Given the description of an element on the screen output the (x, y) to click on. 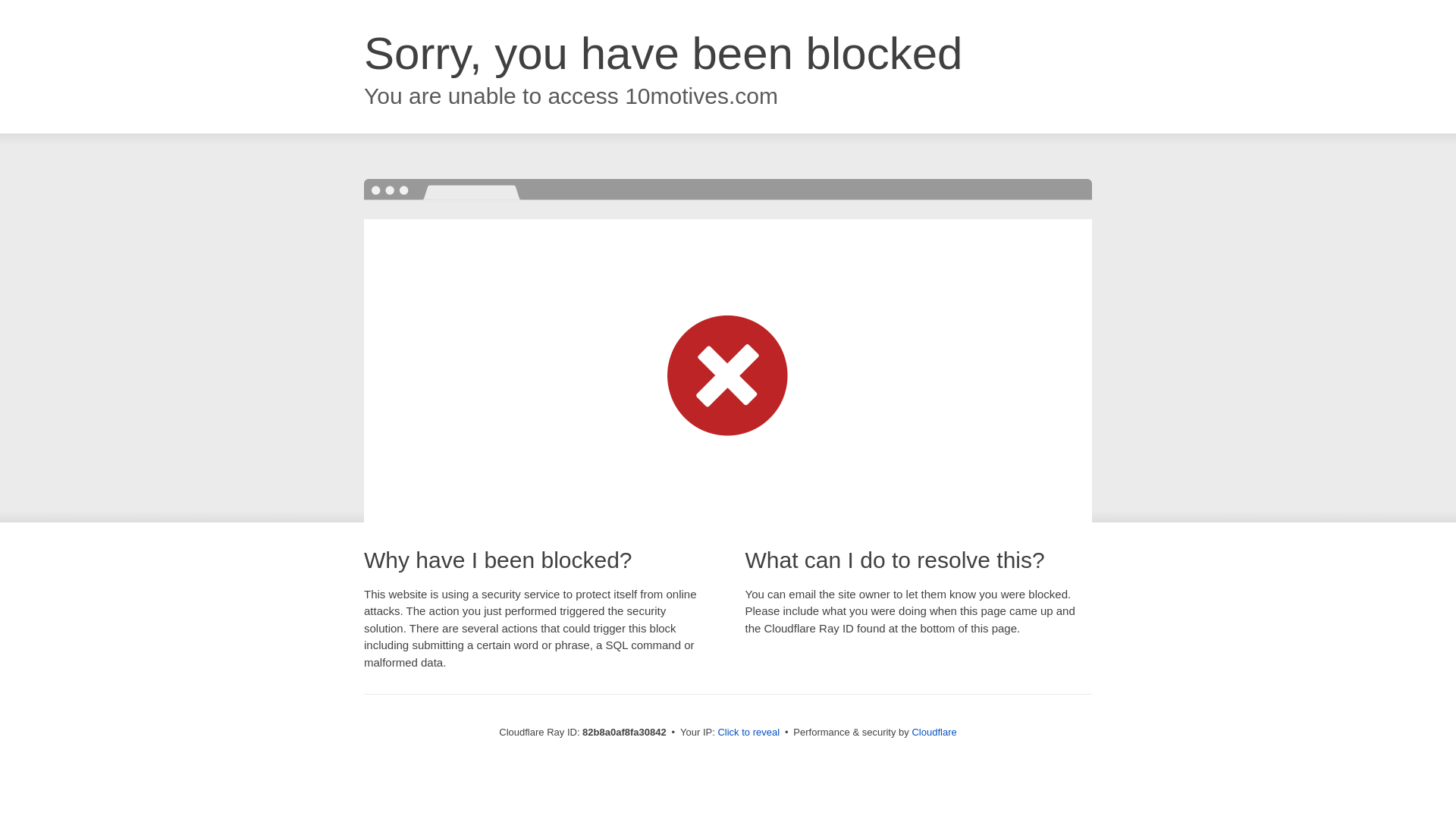
Click to reveal Element type: text (748, 732)
Cloudflare Element type: text (933, 731)
